Given the description of an element on the screen output the (x, y) to click on. 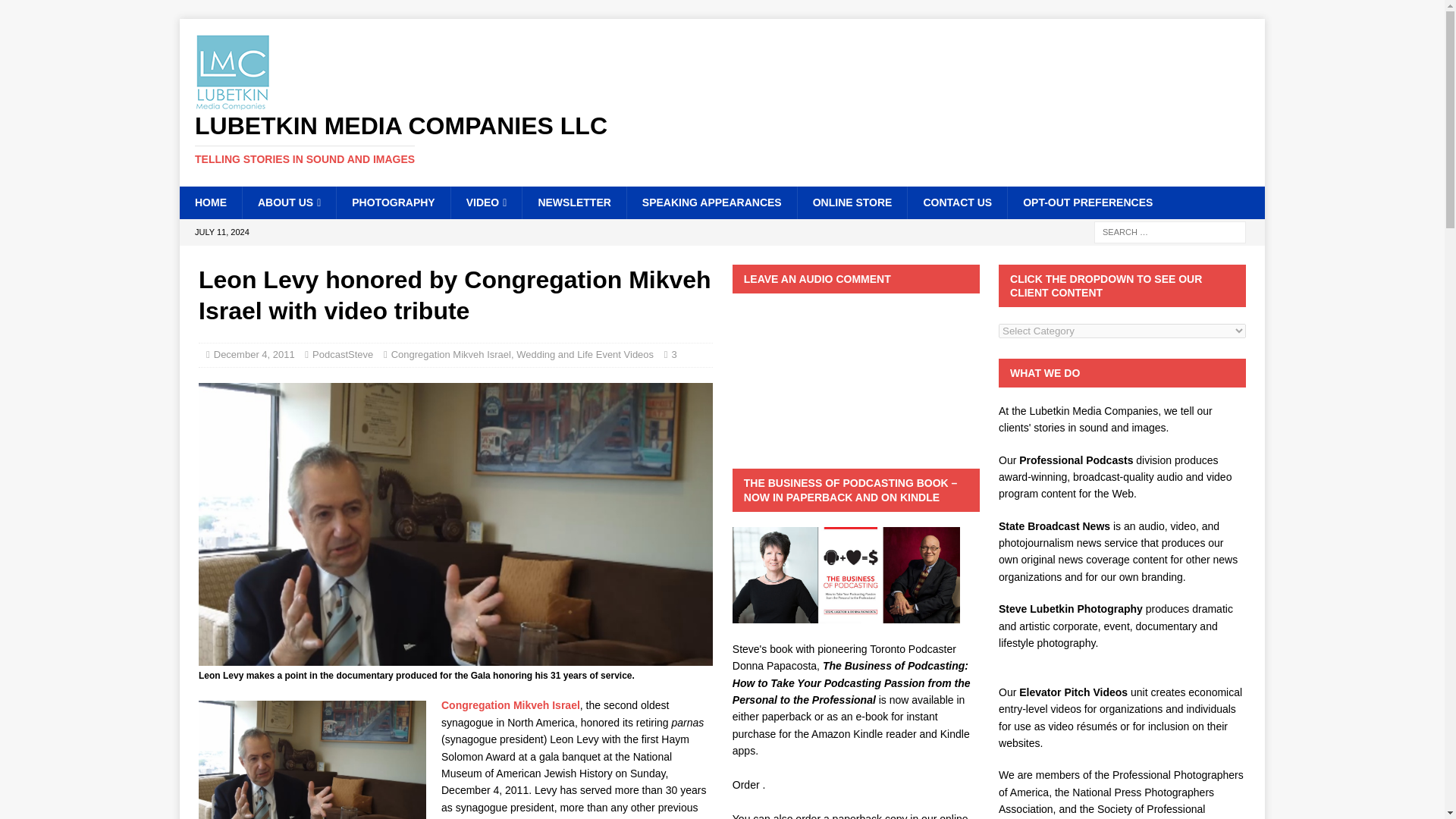
CONTACT US (957, 202)
HOME (210, 202)
NEWSLETTER (573, 202)
December 4, 2011 (254, 354)
Congregation Mikveh Israel (510, 705)
OPT-OUT PREFERENCES (1087, 202)
PodcastSteve (342, 354)
Search (56, 11)
